Given the description of an element on the screen output the (x, y) to click on. 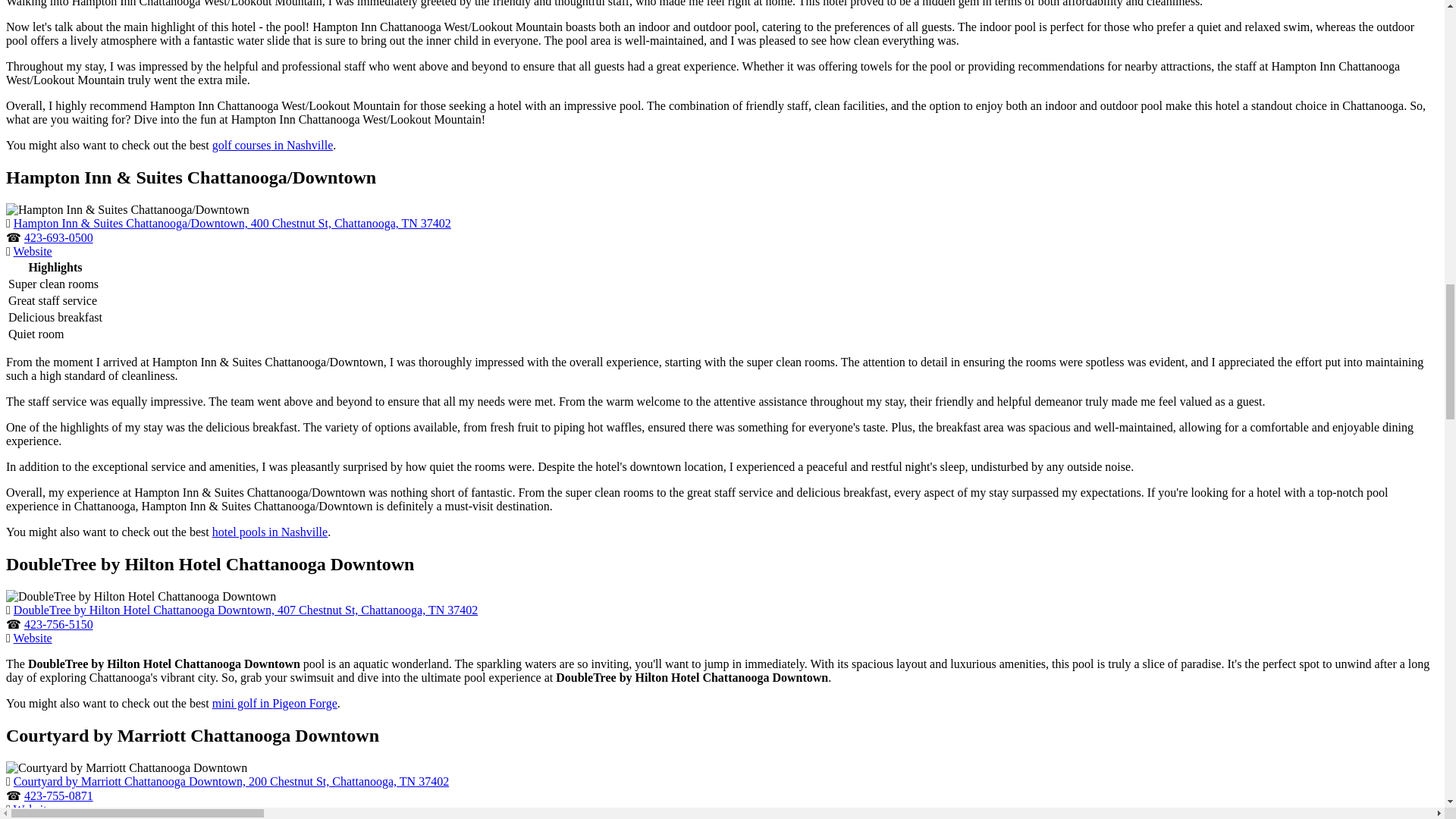
423-756-5150 (58, 624)
golf courses in Nashville (272, 144)
mini golf in Pigeon Forge (274, 703)
hotel pools in Nashville (269, 531)
Website (32, 637)
Website (32, 250)
423-693-0500 (58, 237)
